Given the description of an element on the screen output the (x, y) to click on. 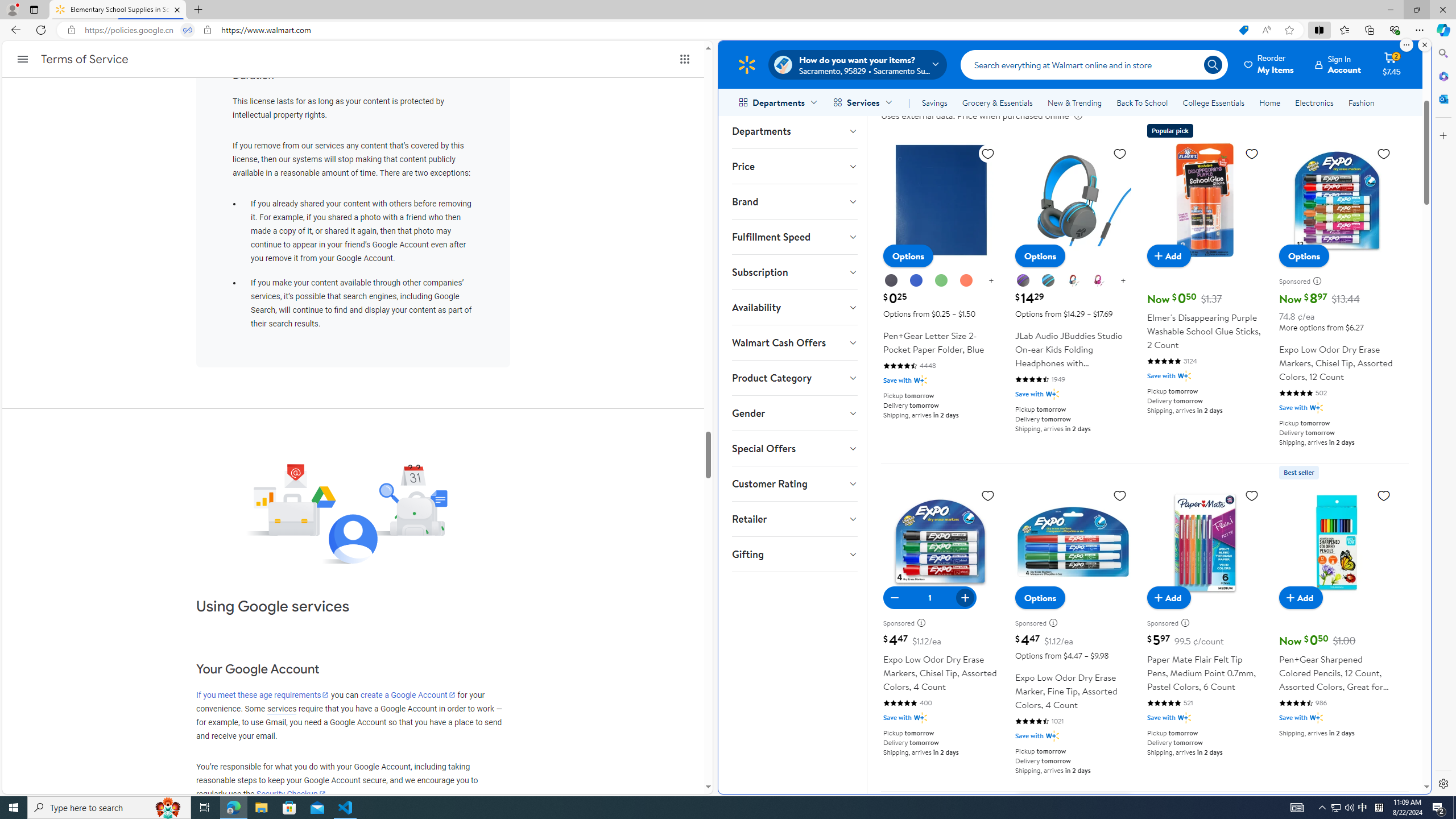
Split screen (1318, 29)
Walmart Cash Offers (794, 342)
Customer Rating (794, 483)
Blue (915, 280)
College Essentials (1213, 102)
Tabs in split screen (187, 29)
Subscription (794, 271)
show more color options (1122, 280)
Blue (916, 280)
